Given the description of an element on the screen output the (x, y) to click on. 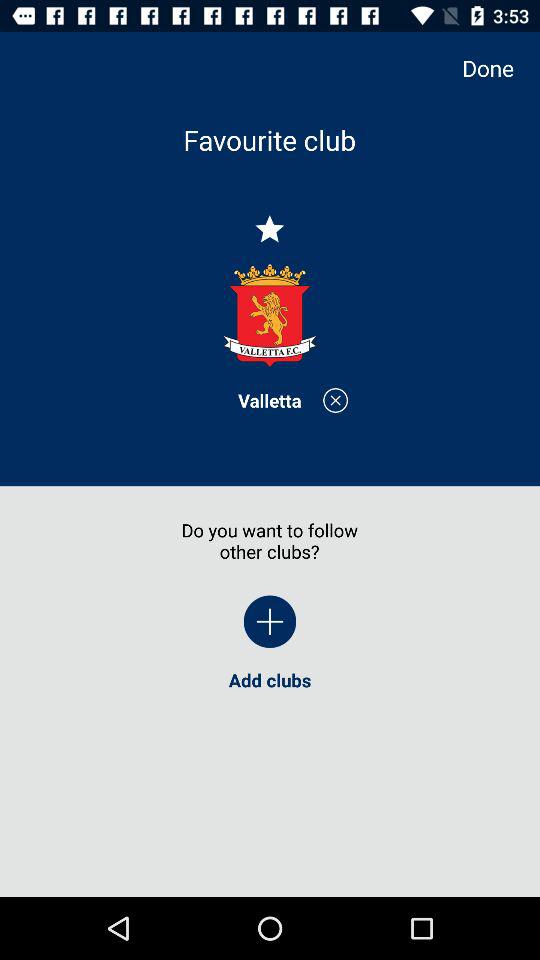
open item at the top right corner (497, 68)
